Given the description of an element on the screen output the (x, y) to click on. 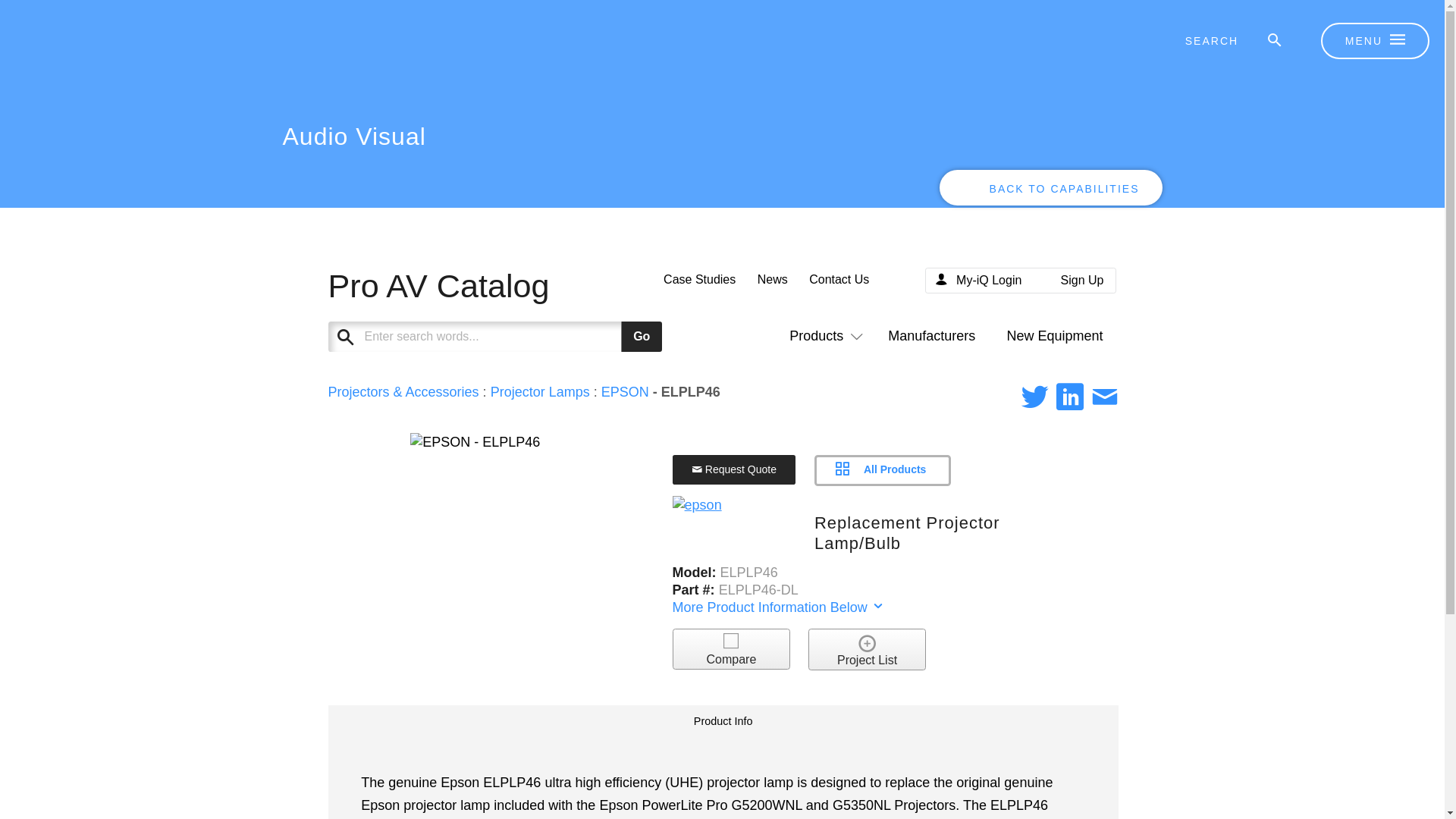
Search for: (1222, 40)
epson (697, 505)
Go (641, 336)
Enter search words... (531, 336)
Go (641, 336)
